Given the description of an element on the screen output the (x, y) to click on. 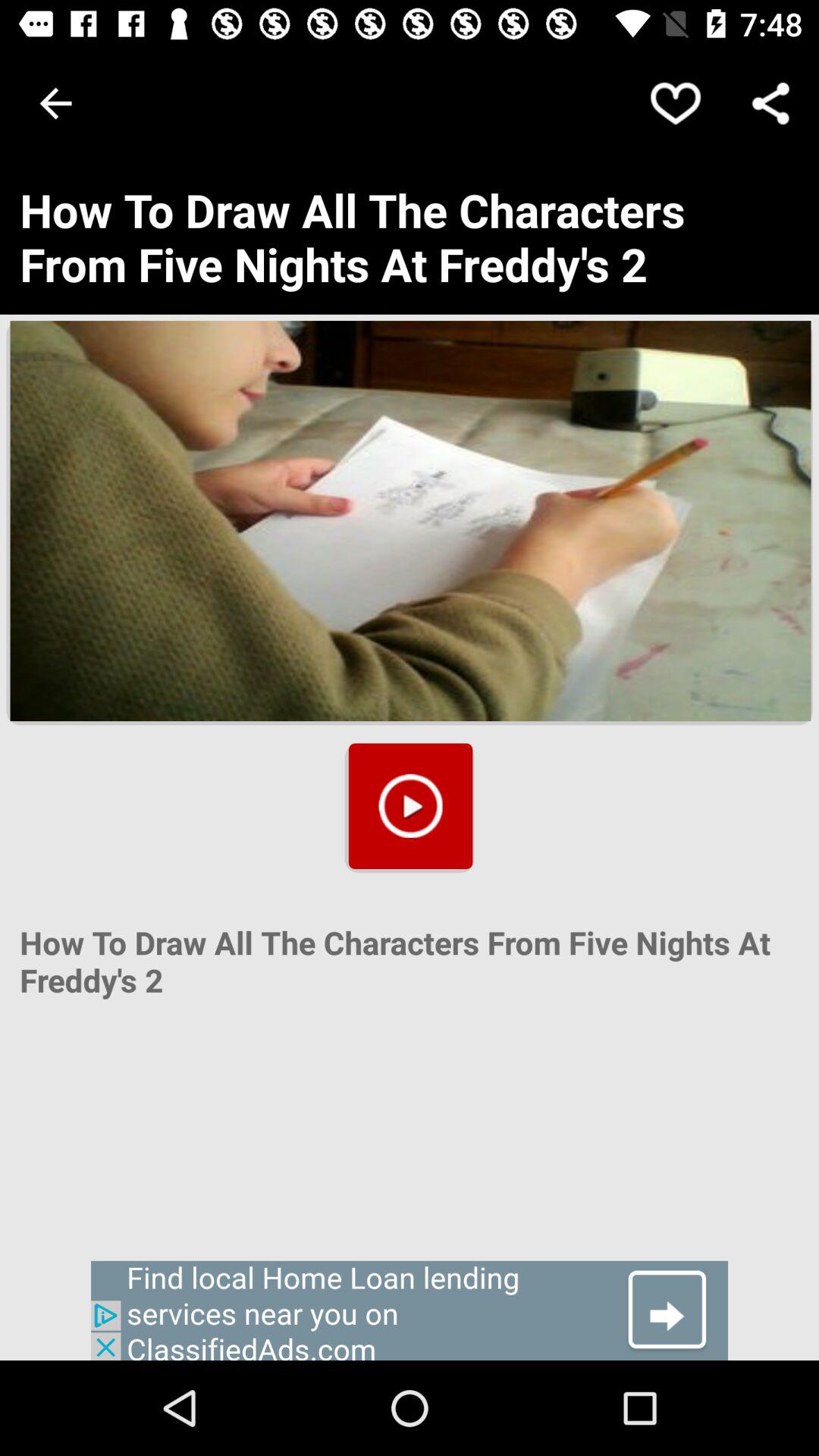
open advertisement (409, 1310)
